Given the description of an element on the screen output the (x, y) to click on. 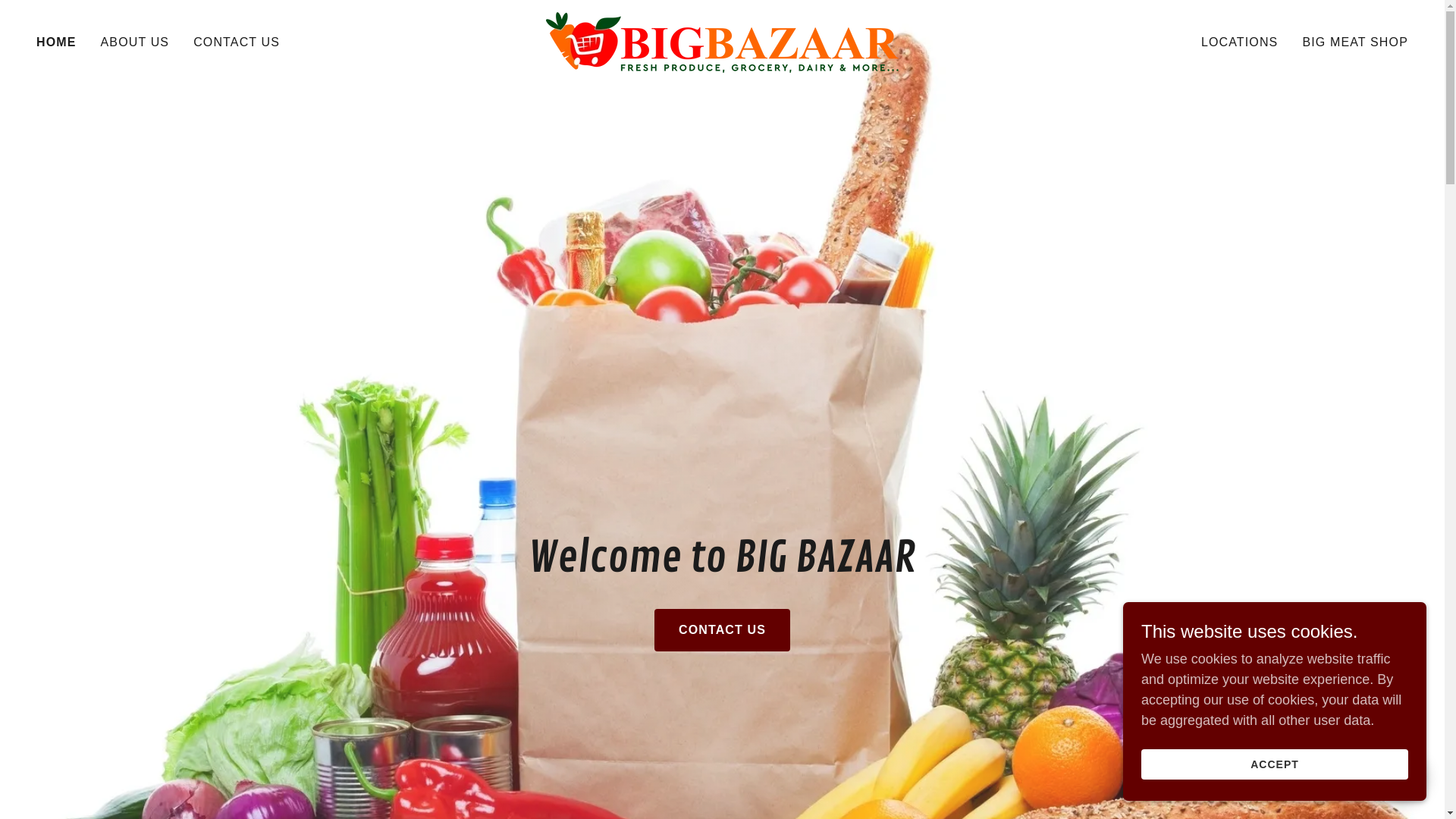
ABOUT US Element type: text (135, 42)
ACCEPT Element type: text (1274, 764)
BIG BAZAAR Element type: hover (722, 41)
CONTACT US Element type: text (236, 42)
HOME Element type: text (56, 42)
CONTACT US Element type: text (722, 629)
LOCATIONS Element type: text (1239, 42)
BIG MEAT SHOP Element type: text (1354, 42)
